Given the description of an element on the screen output the (x, y) to click on. 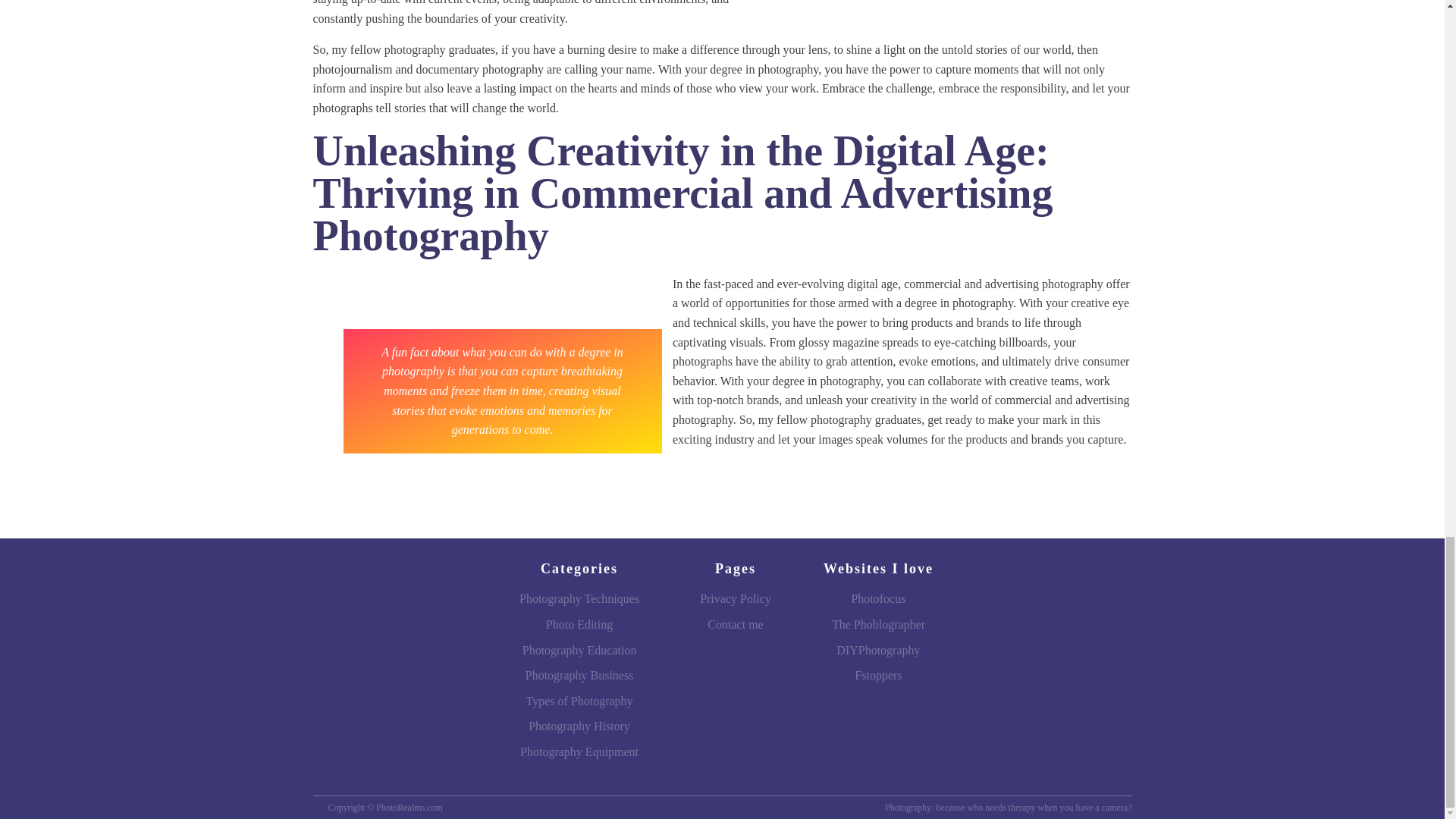
Privacy Policy (735, 598)
Photography Education (578, 650)
Photography Equipment (578, 751)
Photography History (578, 726)
Photo Editing (578, 624)
Types of Photography (578, 701)
Fstoppers (878, 675)
Contact me (735, 624)
Photography Business (578, 675)
DIYPhotography (878, 650)
Photofocus (878, 598)
Photography Techniques (578, 598)
The Phoblographer (878, 624)
